Given the description of an element on the screen output the (x, y) to click on. 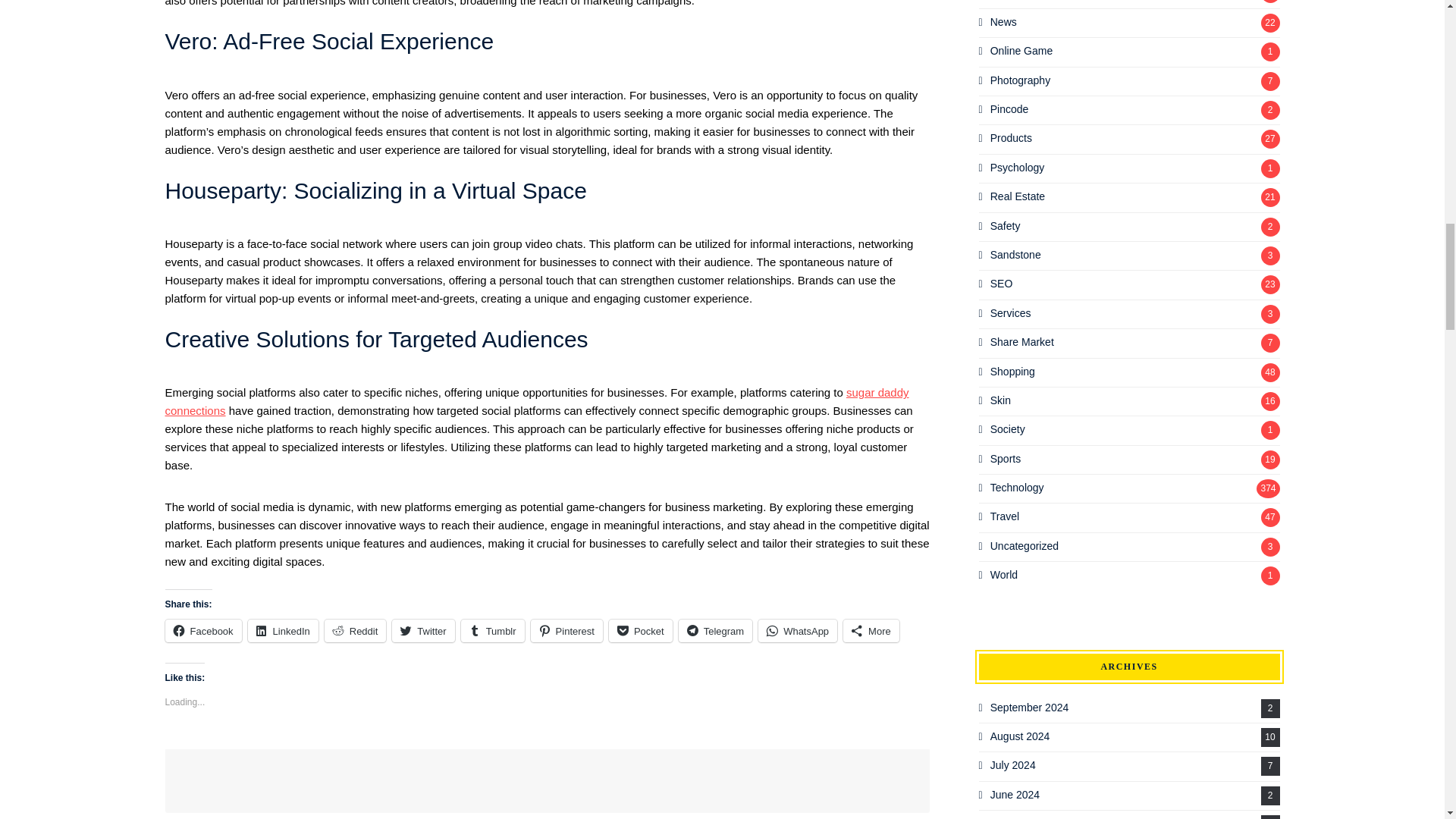
Click to share on Reddit (355, 630)
Click to share on Facebook (203, 630)
Click to share on Pocket (640, 630)
Click to share on Tumblr (492, 630)
Click to share on Telegram (715, 630)
Click to share on LinkedIn (282, 630)
Click to share on Pinterest (566, 630)
Click to share on WhatsApp (797, 630)
Click to share on Twitter (422, 630)
